Given the description of an element on the screen output the (x, y) to click on. 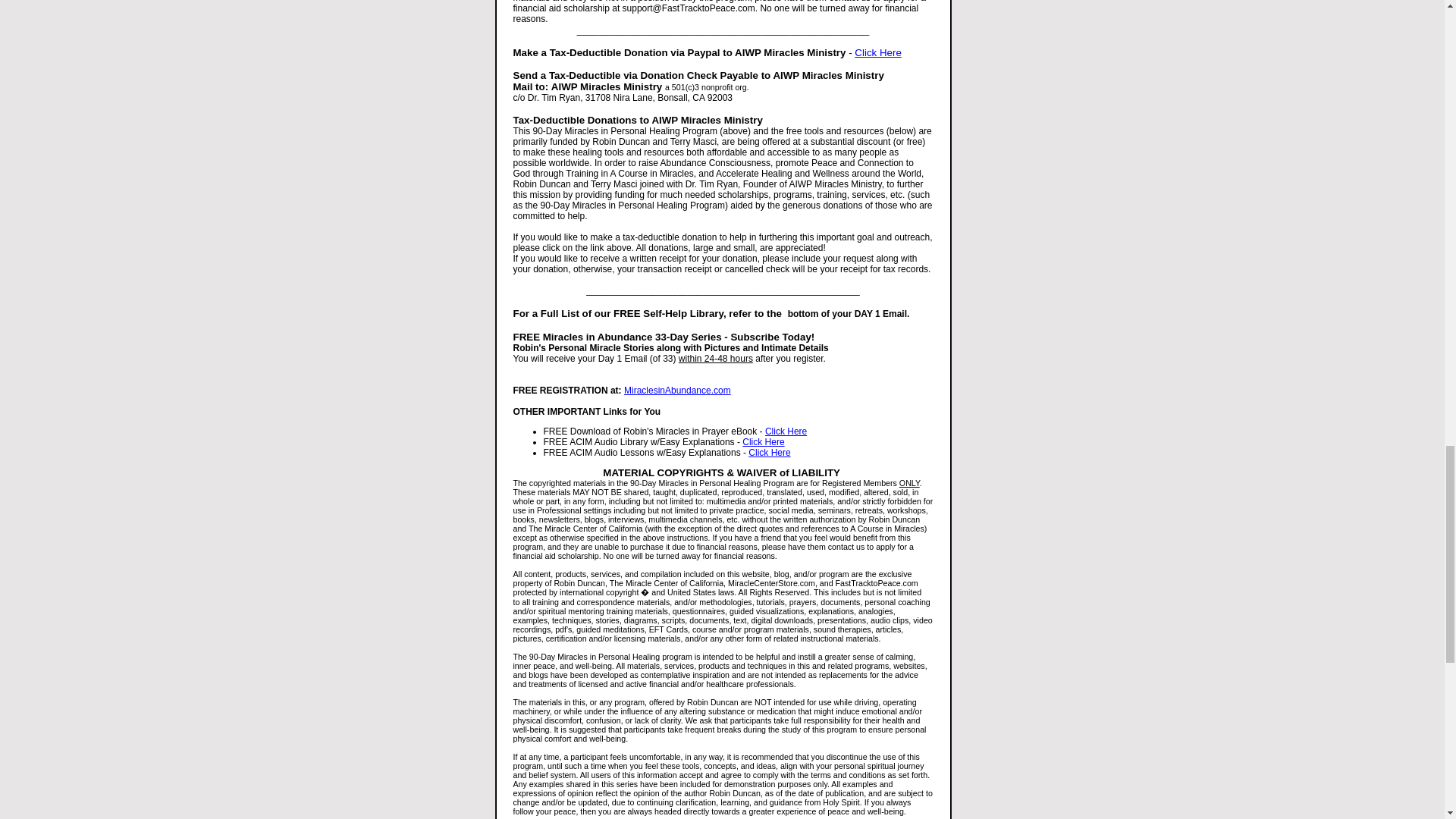
MiraclesinAbundance.com (677, 389)
Click Here (785, 430)
Click Here (763, 441)
Click Here (769, 452)
Click Here (877, 52)
